Given the description of an element on the screen output the (x, y) to click on. 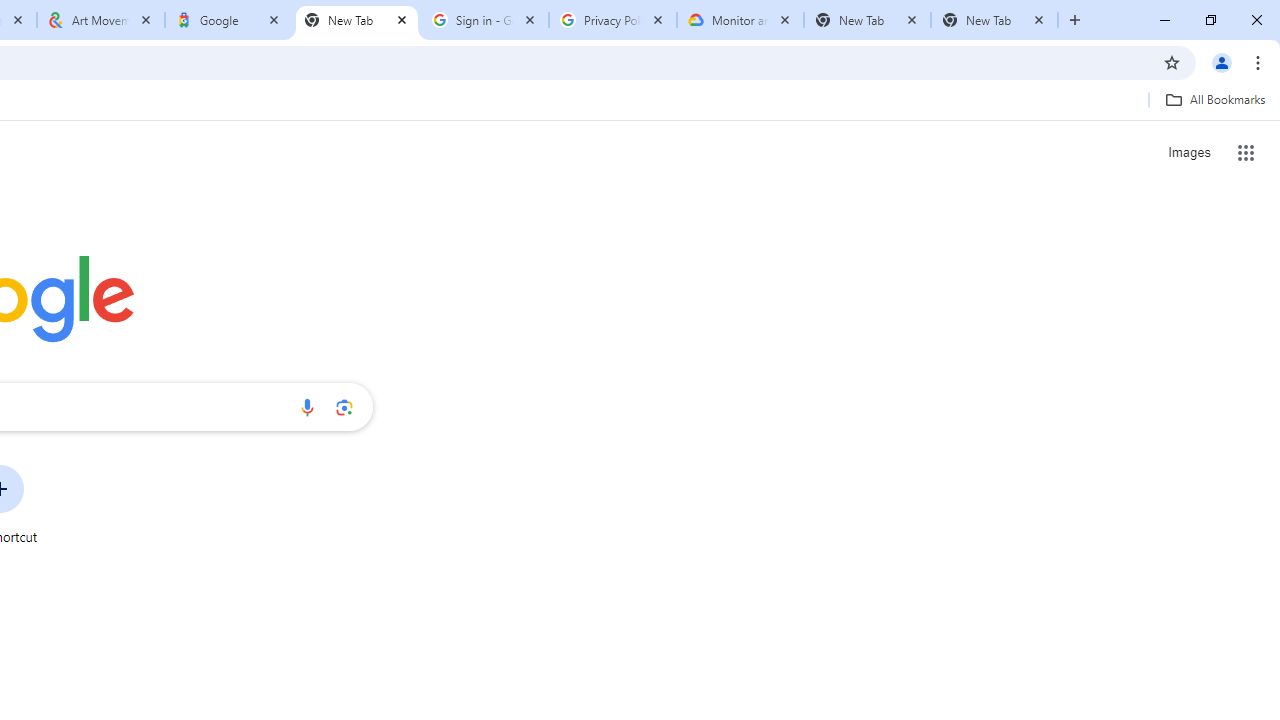
Search by image (344, 407)
New Tab (357, 20)
New Tab (994, 20)
Google apps (1245, 152)
Search by voice (307, 407)
Restore (1210, 20)
Google (229, 20)
You (1221, 62)
New Tab (866, 20)
Search for Images  (1188, 152)
Sign in - Google Accounts (485, 20)
New Tab (1075, 20)
Bookmark this tab (1171, 62)
Minimize (1165, 20)
